Given the description of an element on the screen output the (x, y) to click on. 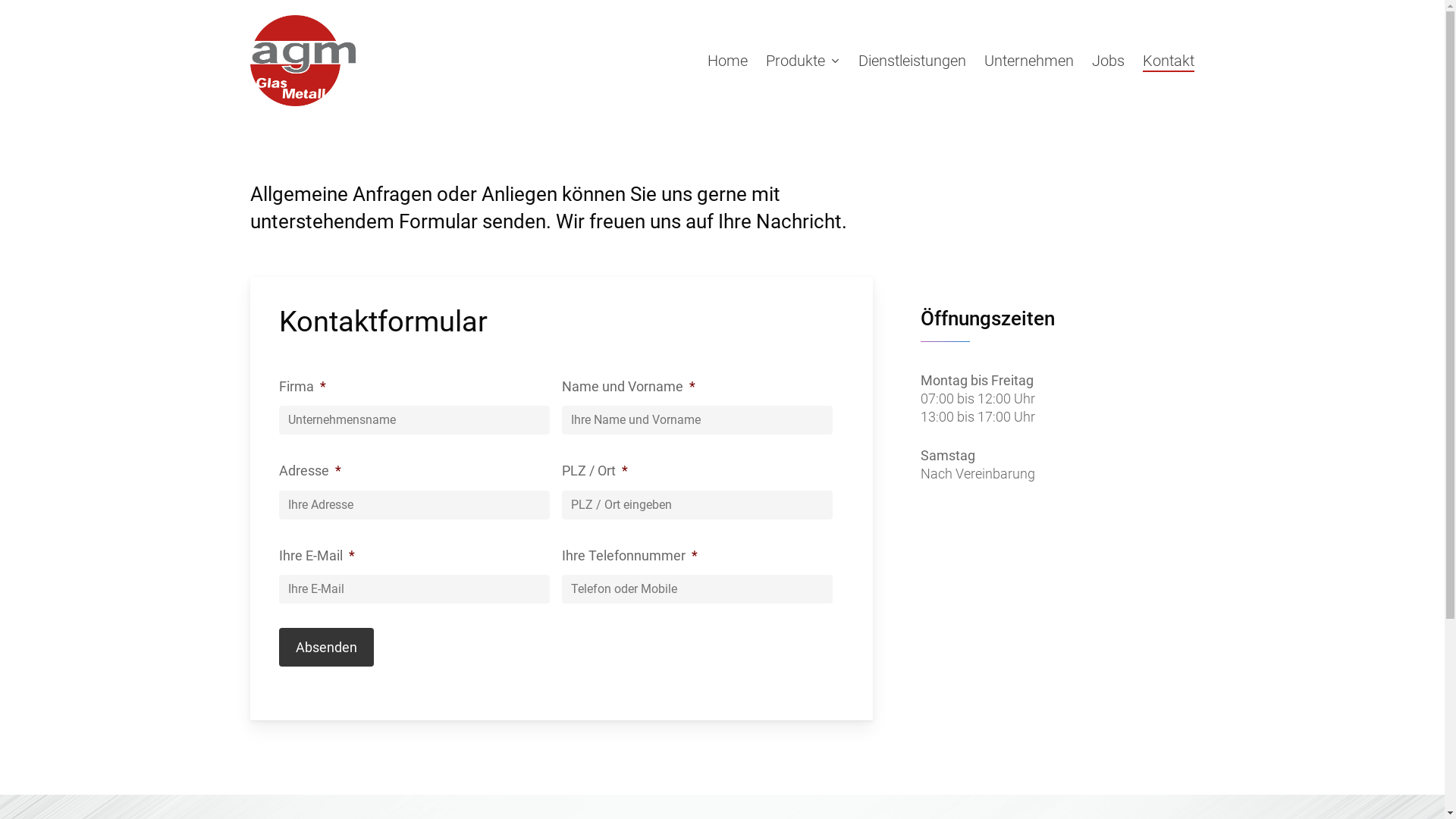
Home Element type: text (727, 60)
Unternehmen Element type: text (1028, 60)
Produkte Element type: text (802, 60)
Kontakt Element type: text (1168, 60)
Jobs Element type: text (1108, 60)
Dienstleistungen Element type: text (912, 60)
Absenden Element type: text (326, 646)
